Given the description of an element on the screen output the (x, y) to click on. 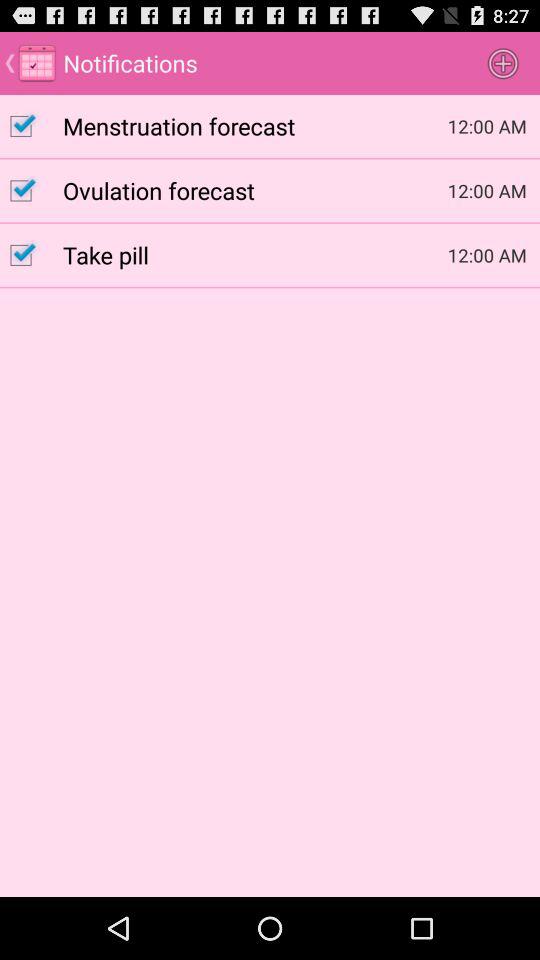
scroll until take pill icon (255, 254)
